Given the description of an element on the screen output the (x, y) to click on. 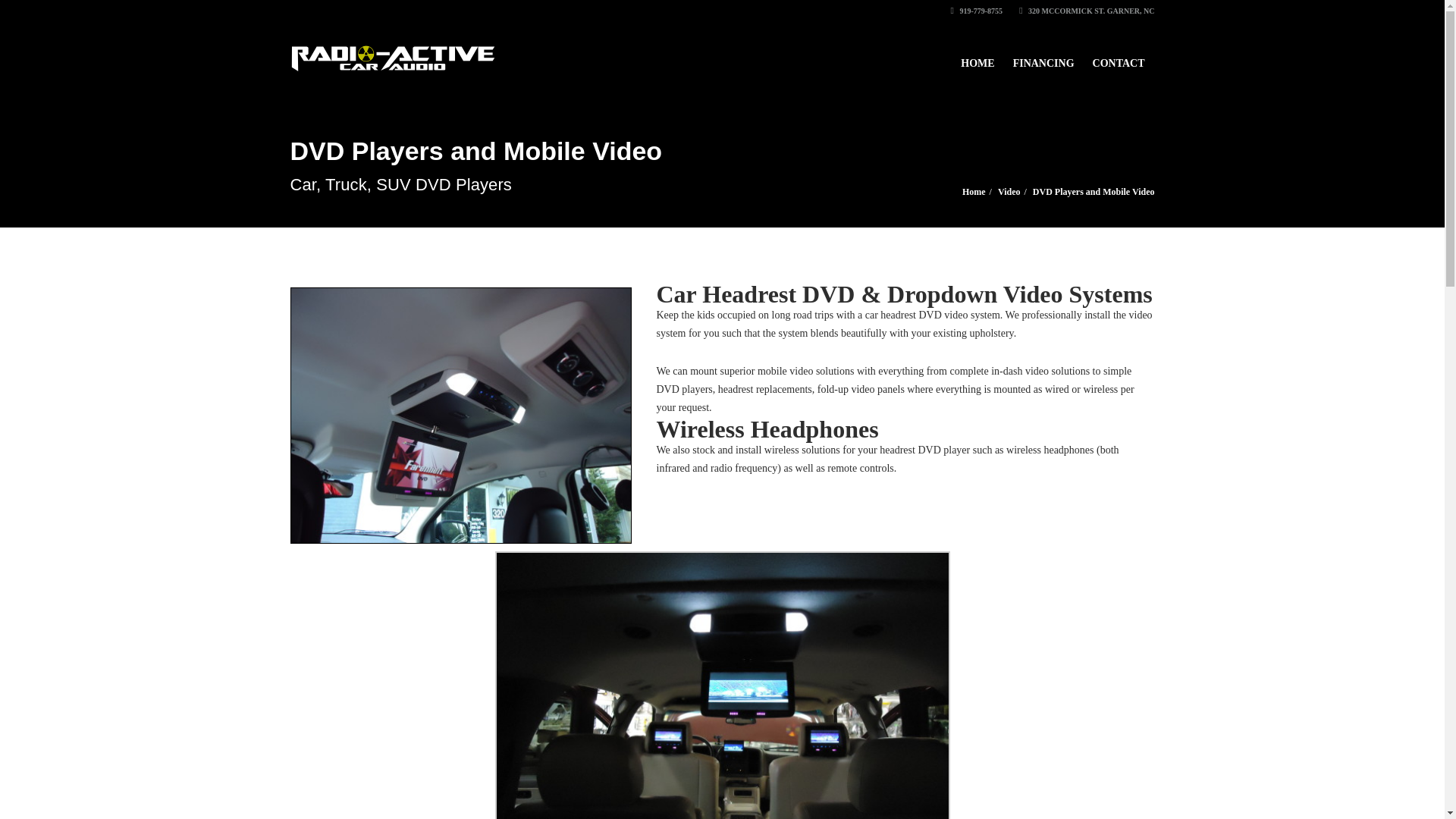
320 MCCORMICK ST. GARNER, NC (1086, 10)
Video (1008, 191)
CONTACT (1118, 56)
DVD Players and Mobile Video (1093, 191)
919-779-8755 (976, 10)
FINANCING (1043, 56)
Home (973, 191)
